Given the description of an element on the screen output the (x, y) to click on. 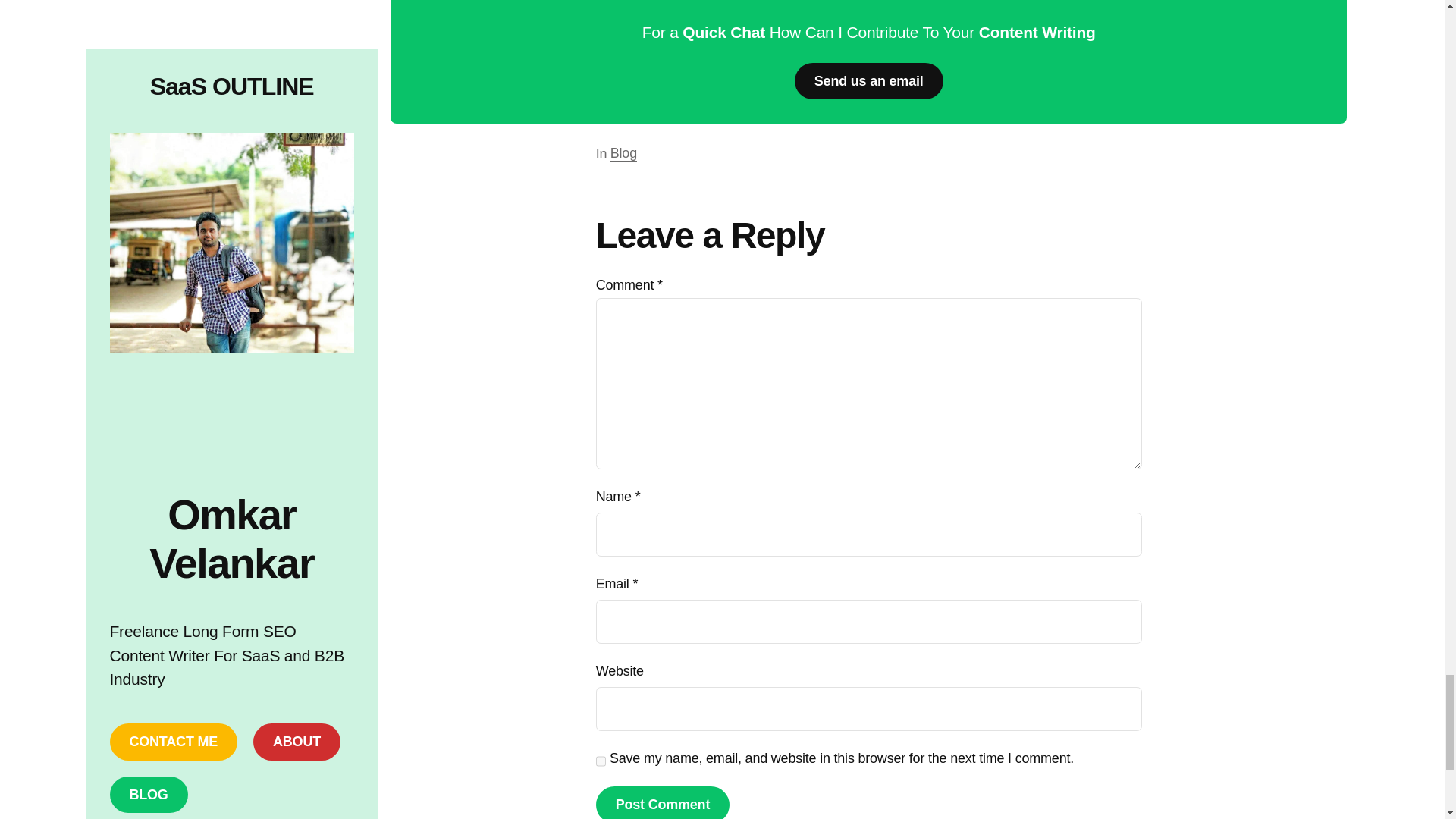
Send us an email (868, 81)
Blog (623, 152)
Post Comment (662, 802)
Post Comment (662, 802)
